Given the description of an element on the screen output the (x, y) to click on. 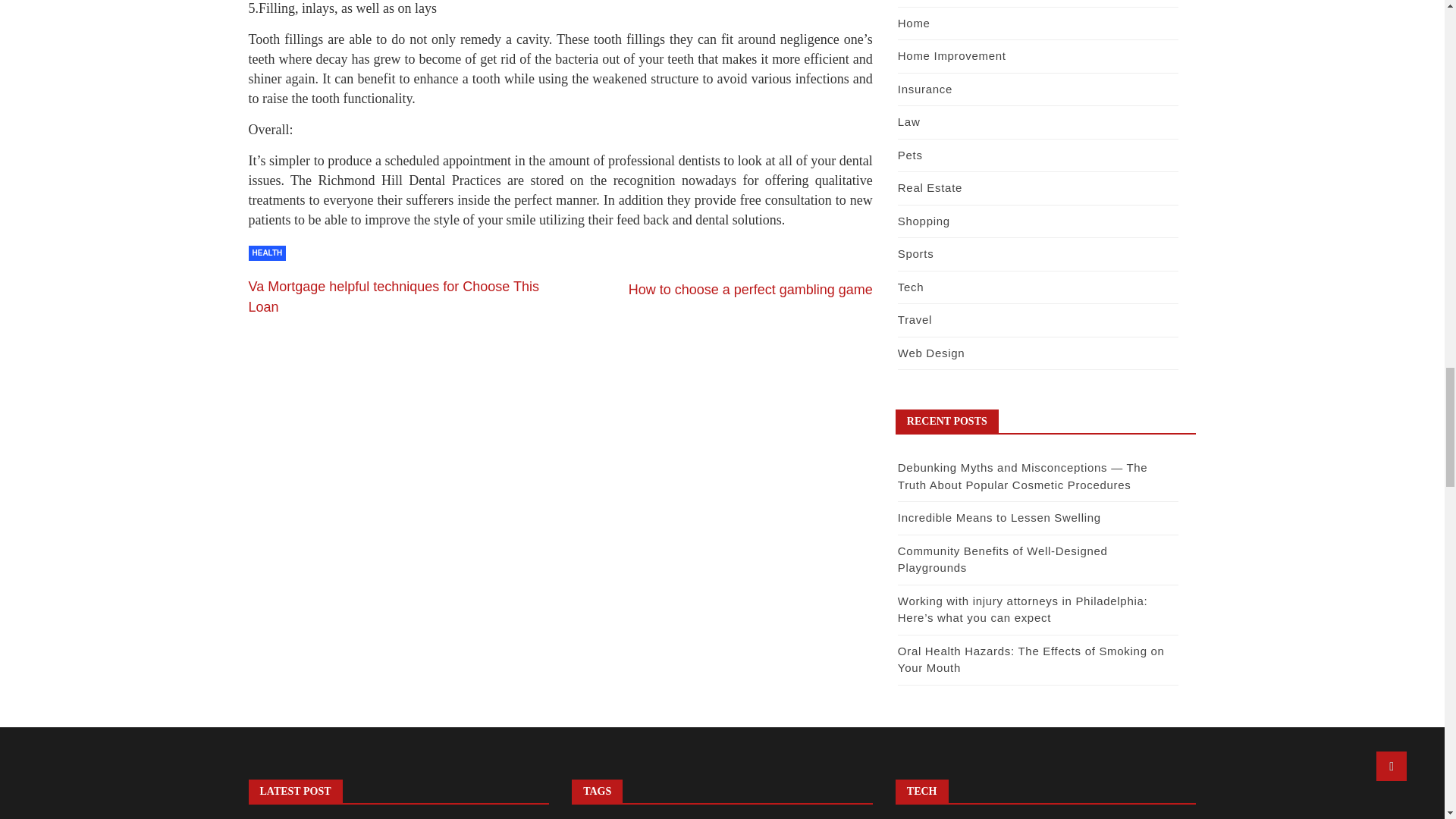
Va Mortgage helpful techniques for Choose This Loan (394, 296)
HEALTH (267, 253)
How to choose a perfect gambling game (750, 289)
